Given the description of an element on the screen output the (x, y) to click on. 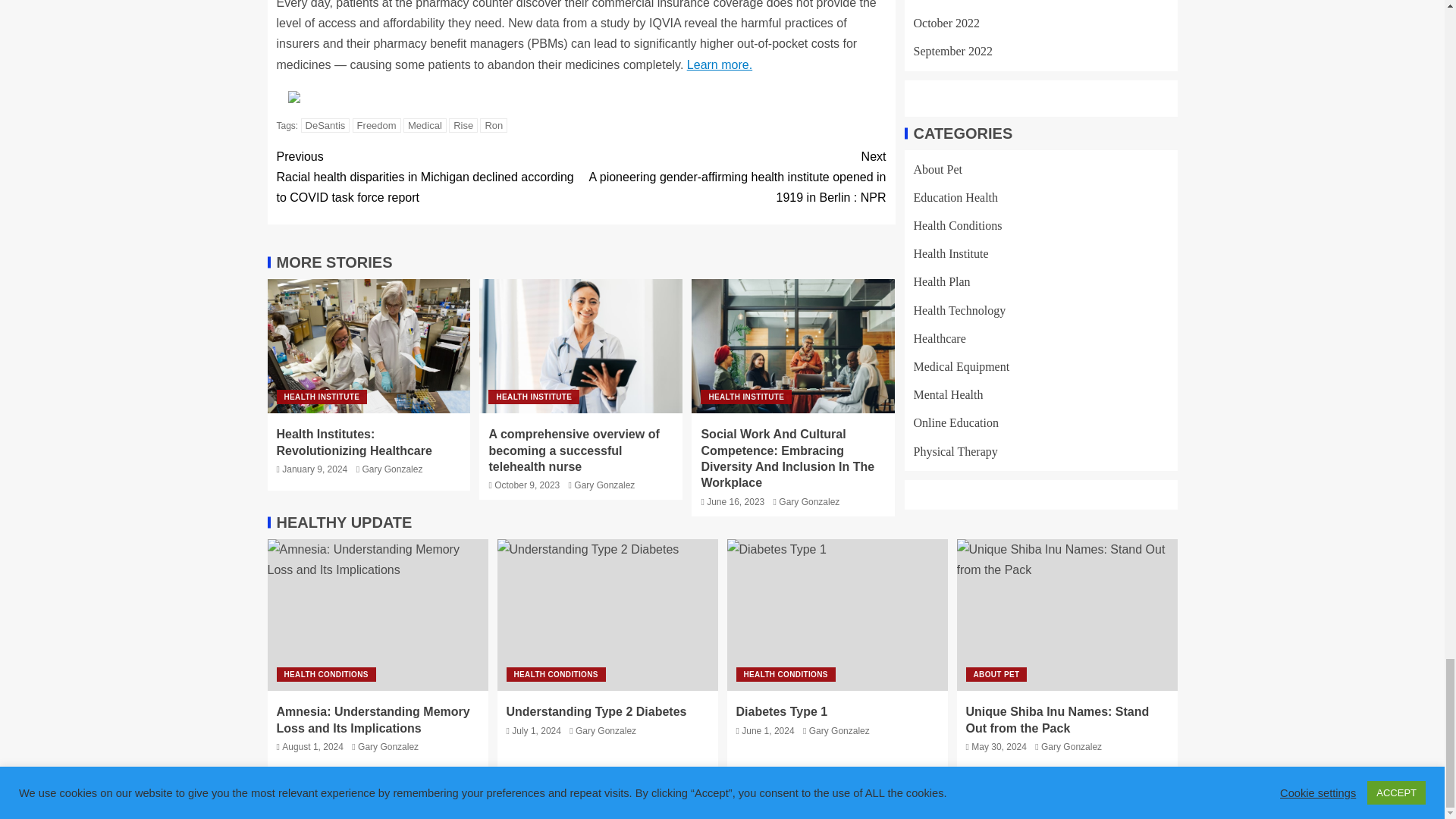
Rise (462, 124)
Unique Shiba Inu Names: Stand Out from the Pack (1066, 614)
Diabetes Type 1 (836, 614)
Amnesia: Understanding Memory Loss and Its Implications (376, 614)
Medical (424, 124)
Learn more. (719, 64)
Ron (493, 124)
Understanding Type 2 Diabetes (607, 614)
